Given the description of an element on the screen output the (x, y) to click on. 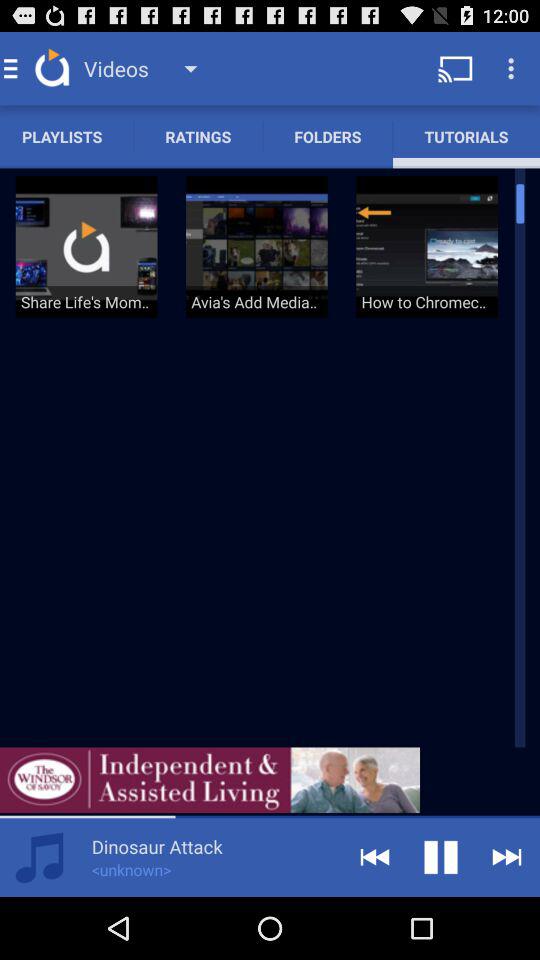
advertisement (210, 780)
